Given the description of an element on the screen output the (x, y) to click on. 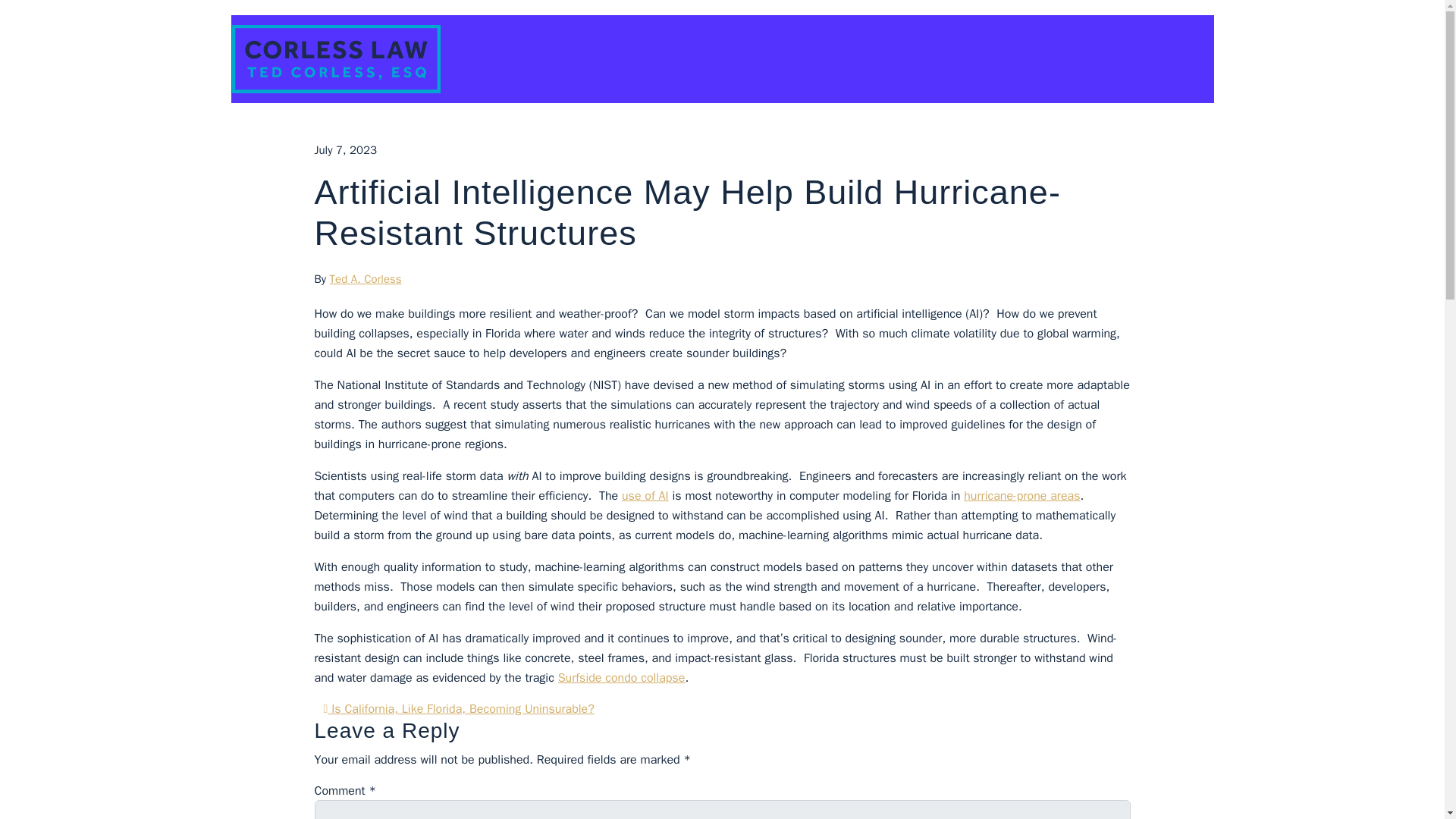
use of AI (644, 495)
Surfside condo collapse (621, 677)
hurricane-prone areas (1021, 495)
Posts by Ted A. Corless (365, 278)
Ted A. Corless (365, 278)
 Is California, Like Florida, Becoming Uninsurable? (458, 708)
